Given the description of an element on the screen output the (x, y) to click on. 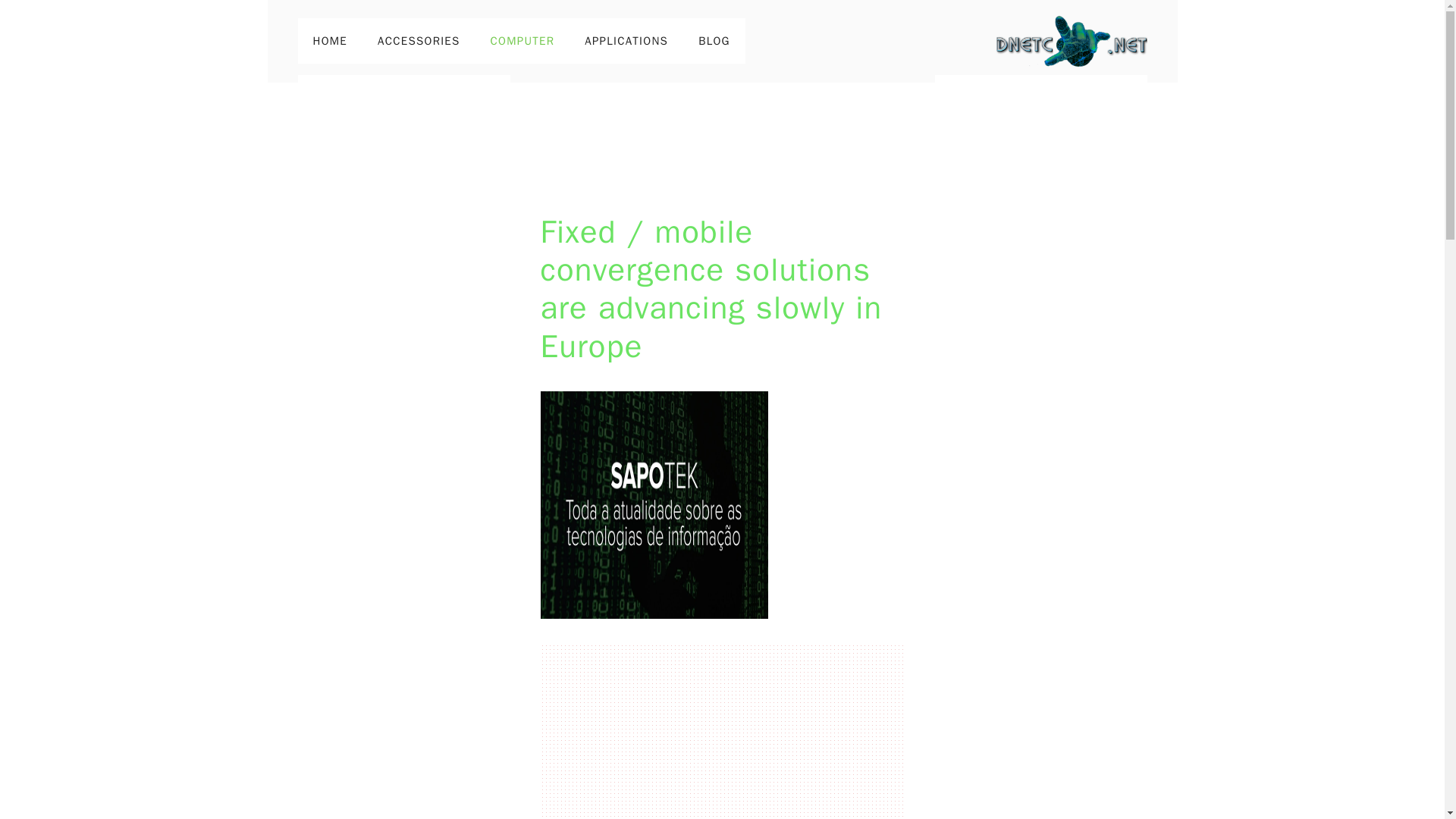
ACCESSORIES (419, 40)
COMPUTER (523, 40)
APPLICATIONS (625, 40)
HOME (329, 40)
BLOG (713, 40)
